Given the description of an element on the screen output the (x, y) to click on. 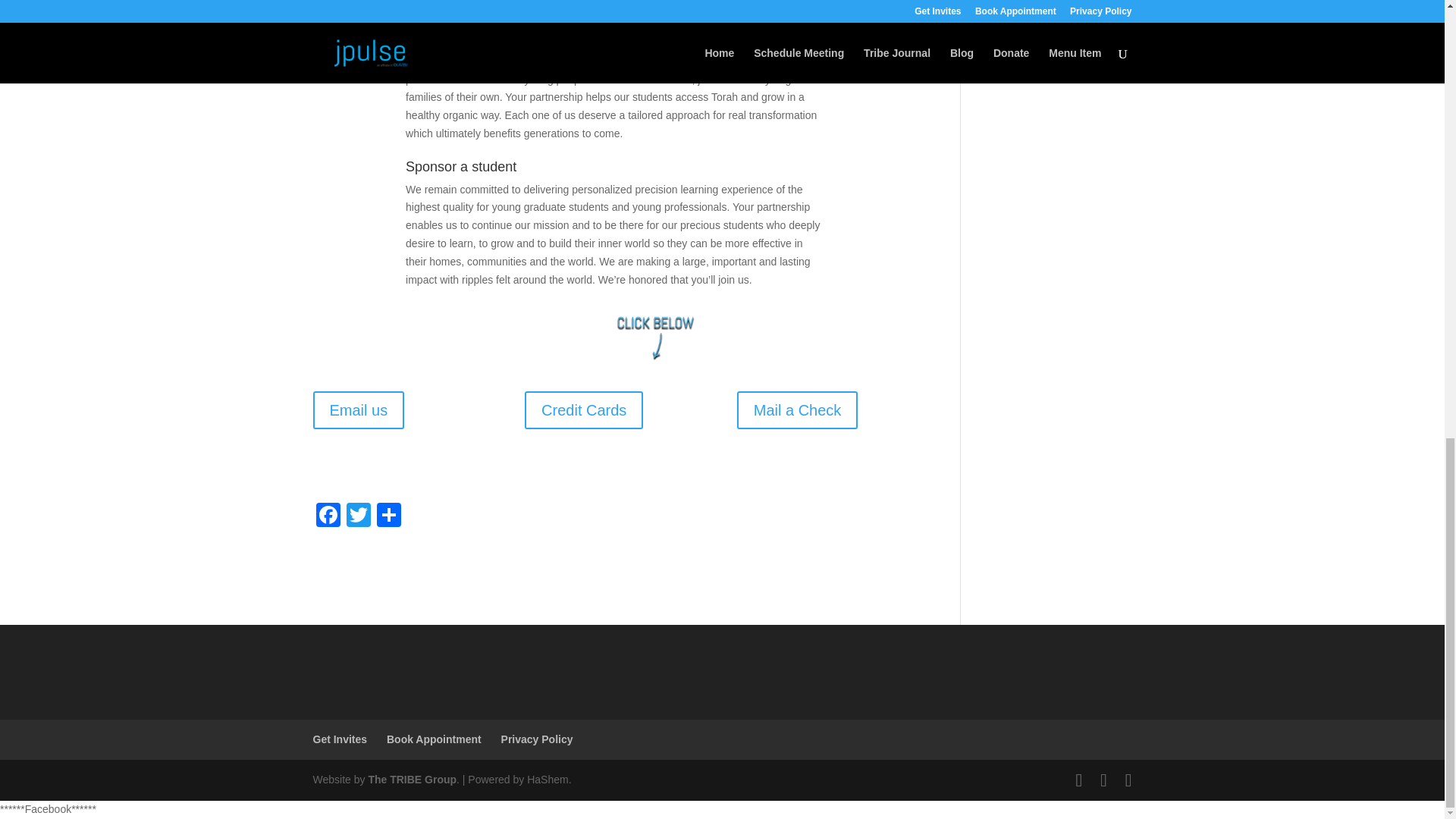
Book Appointment (434, 739)
Credit Cards (583, 410)
Twitter (357, 516)
Get Invites (339, 739)
Twitter (357, 516)
Facebook (327, 516)
Mail a Check (797, 410)
Privacy Policy (536, 739)
Facebook (327, 516)
Email us (358, 410)
